Given the description of an element on the screen output the (x, y) to click on. 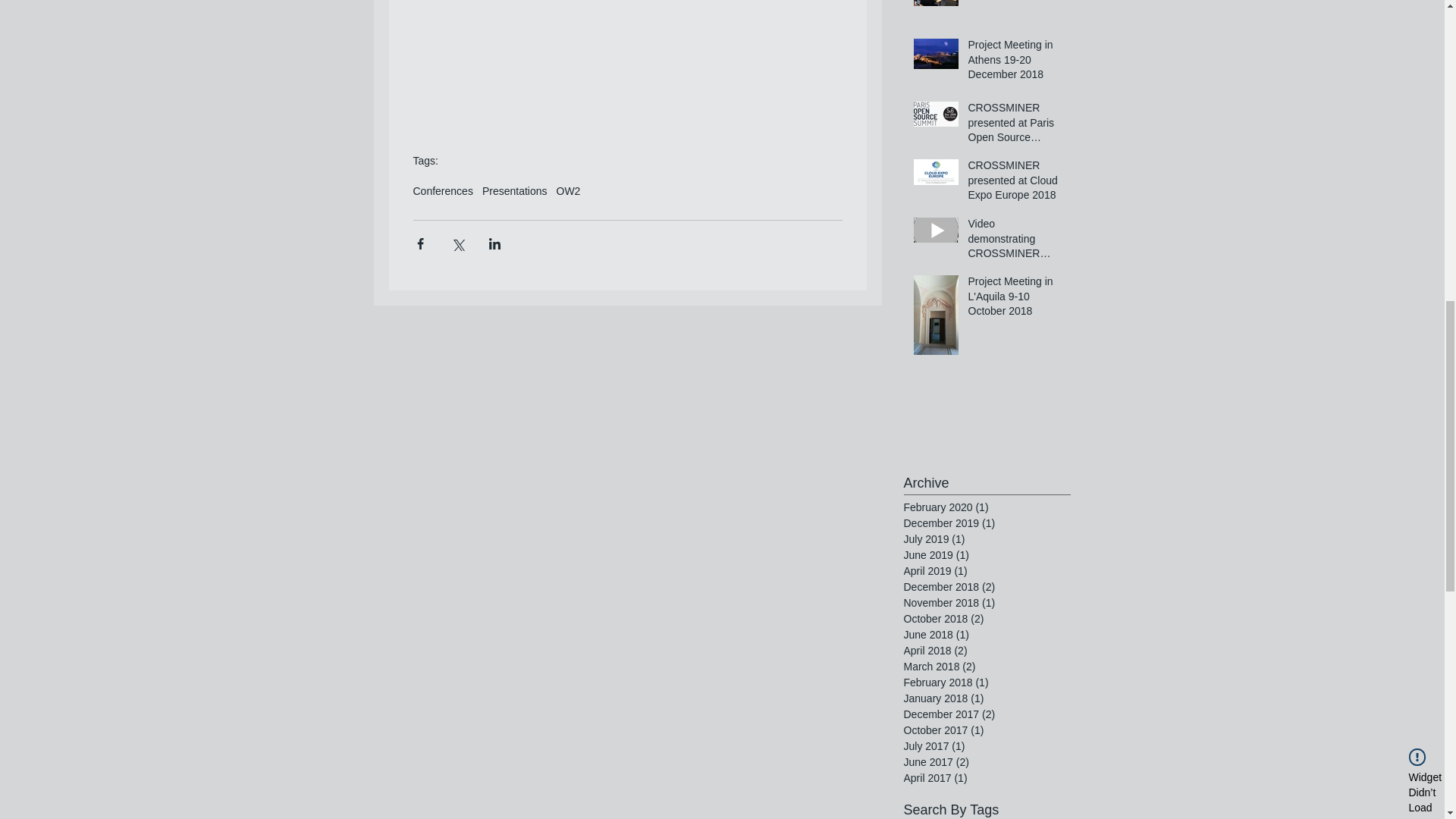
Project meeting in Paris 4-5 April 2019 (1014, 3)
CROSSMINER presented at Paris Open Source Summit (1014, 125)
OW2 (568, 191)
Video demonstrating CROSSMINER Admin Dashboard (1014, 242)
Project Meeting in L'Aquila 9-10 October 2018 (1014, 299)
Conferences (441, 191)
CROSSMINER presented at Cloud Expo Europe 2018 (1014, 183)
Project Meeting in Athens 19-20 December 2018 (1014, 62)
Presentations (514, 191)
